Given the description of an element on the screen output the (x, y) to click on. 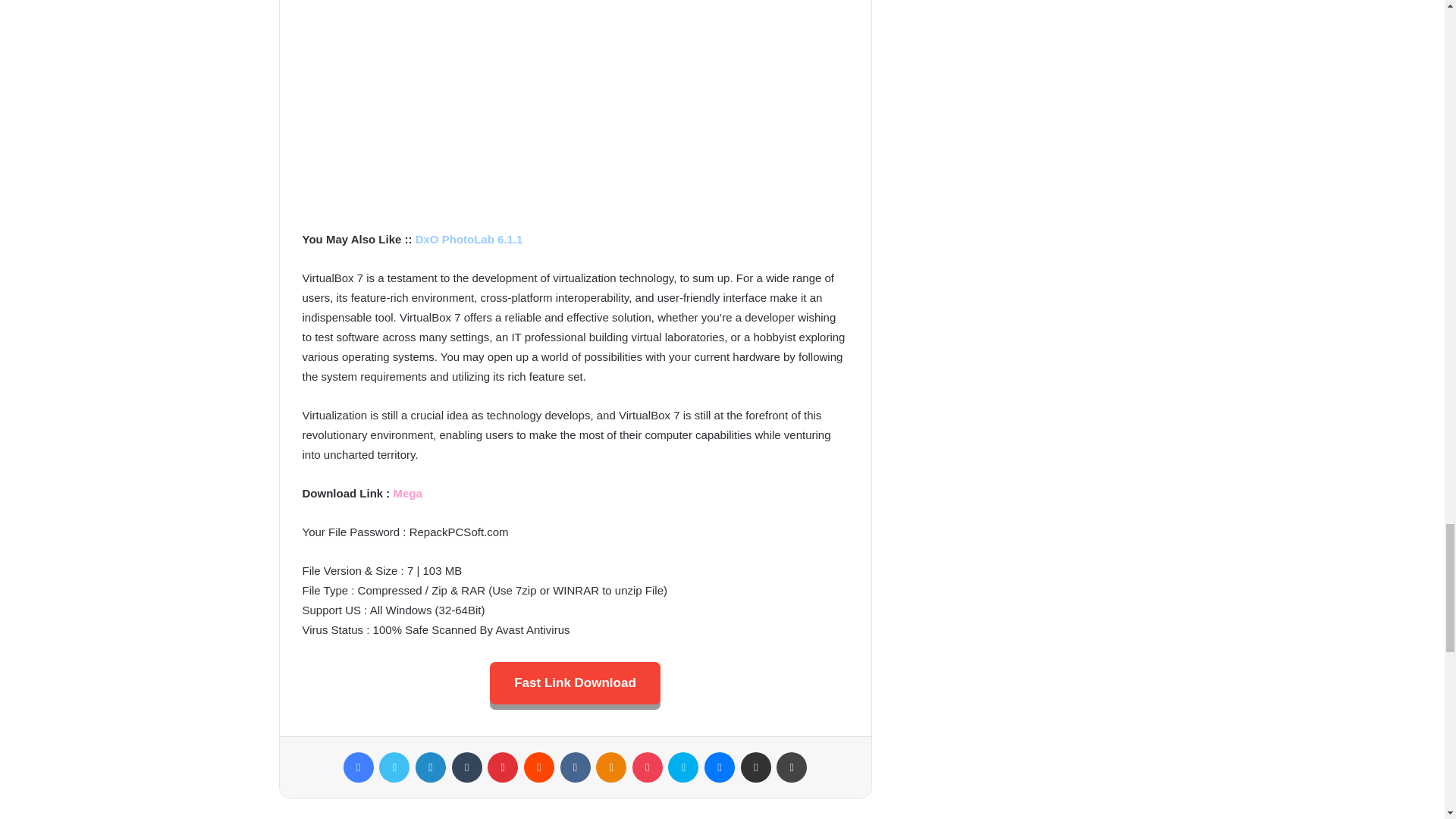
VKontakte (574, 767)
Skype (683, 767)
Reddit (539, 767)
Pinterest (502, 767)
Twitter (393, 767)
Fast Link Download (575, 682)
DxO PhotoLab 6.1.1 (468, 238)
VirtualBox 7 PC Software With Keygen (574, 110)
Odnoklassniki (610, 767)
Mega (407, 492)
Tumblr (466, 767)
Facebook (358, 767)
LinkedIn (429, 767)
Facebook (358, 767)
Pocket (646, 767)
